Given the description of an element on the screen output the (x, y) to click on. 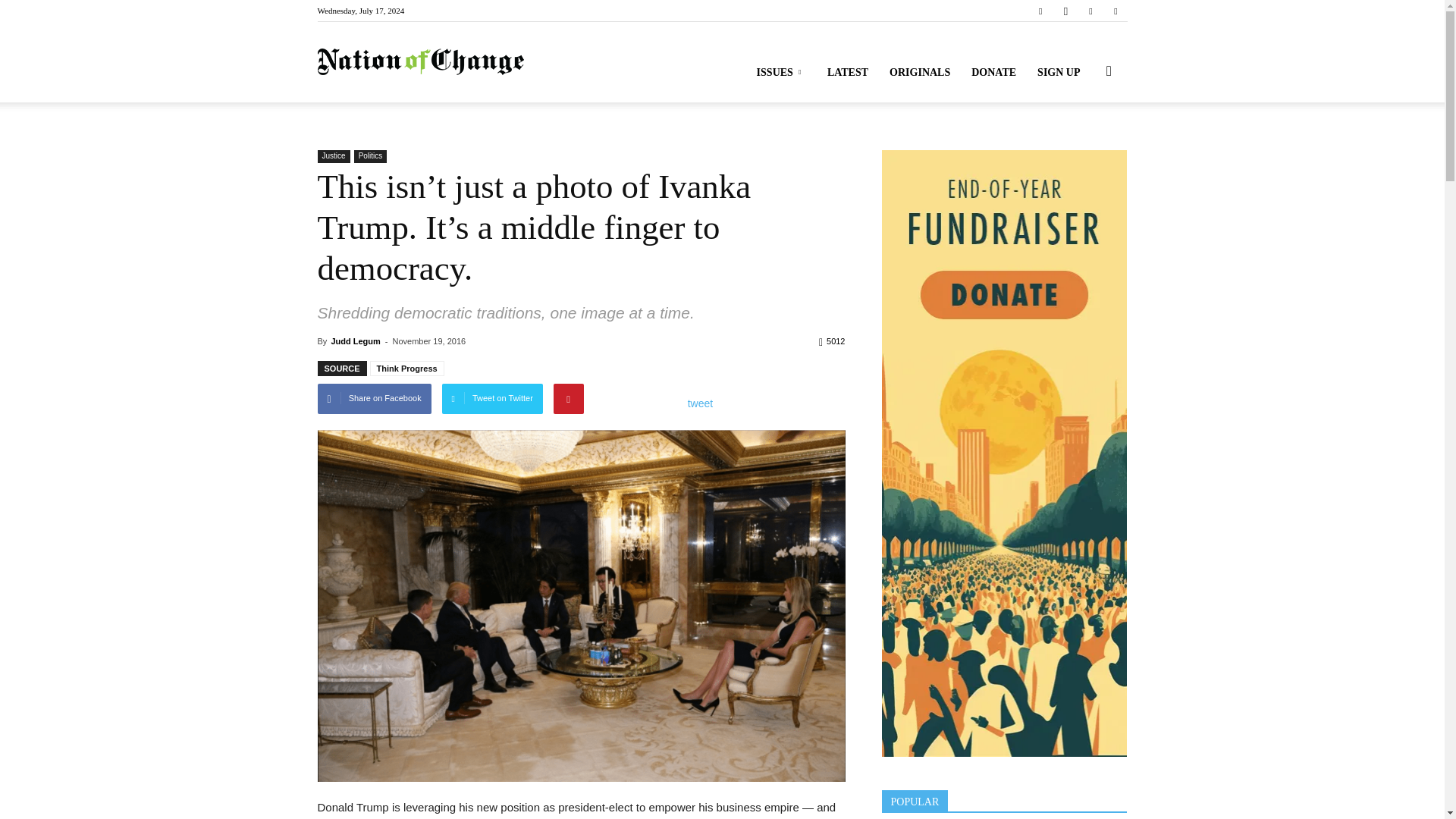
ISSUES (780, 72)
Youtube (1114, 10)
Twitter (1090, 10)
Facebook (1040, 10)
Instagram (1065, 10)
NationofChange (419, 61)
